Given the description of an element on the screen output the (x, y) to click on. 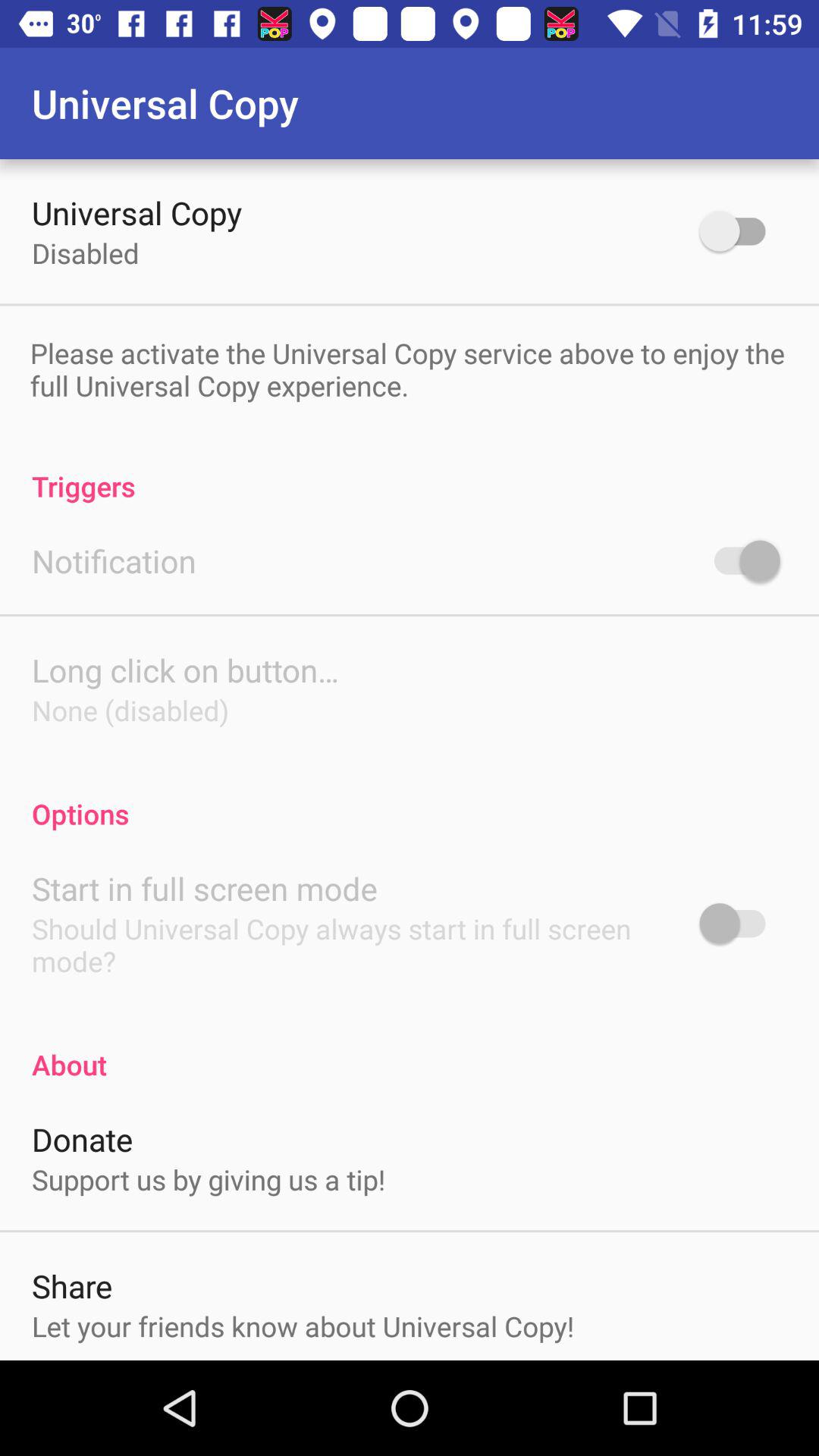
launch the donate item (82, 1138)
